Given the description of an element on the screen output the (x, y) to click on. 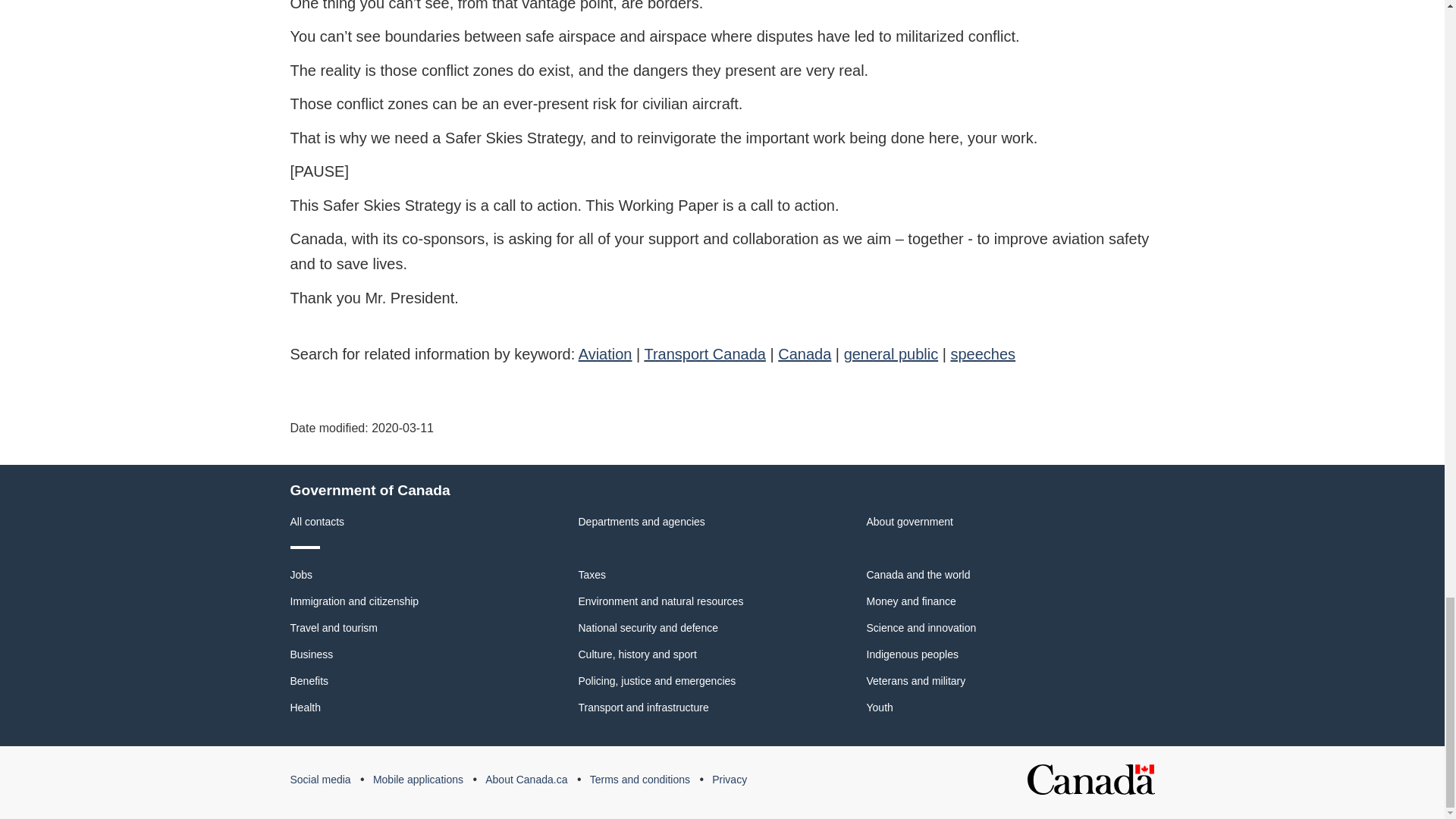
Immigration and citizenship (354, 601)
Benefits (309, 680)
Jobs (301, 574)
About government (909, 521)
Health (304, 707)
general public (891, 353)
Transport Canada (704, 353)
Business (311, 654)
speeches (982, 353)
Environment and natural resources (660, 601)
All contacts (316, 521)
Travel and tourism (333, 627)
Taxes (591, 574)
Departments and agencies (641, 521)
Aviation (604, 353)
